Given the description of an element on the screen output the (x, y) to click on. 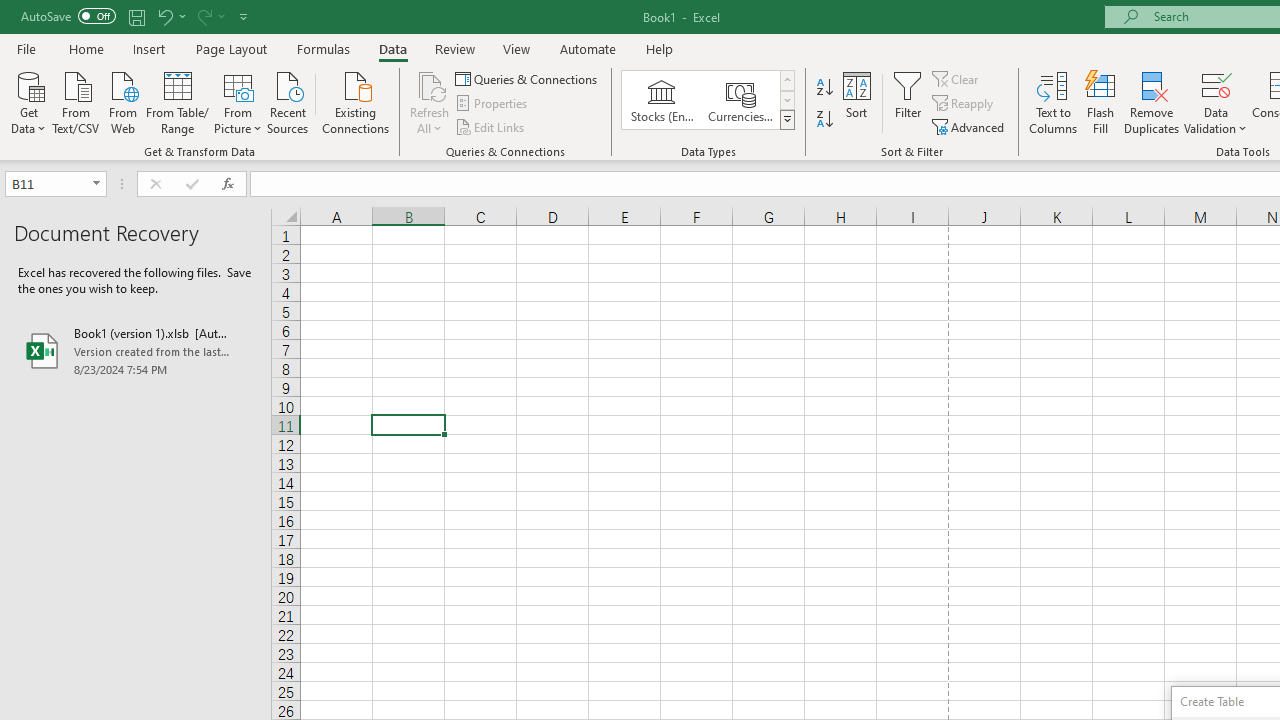
Queries & Connections (527, 78)
From Picture (238, 101)
From Web (122, 101)
Flash Fill (1101, 102)
Sort... (856, 102)
Data Types (786, 120)
From Text/CSV (75, 101)
Currencies (English) (740, 100)
Remove Duplicates (1151, 102)
